Given the description of an element on the screen output the (x, y) to click on. 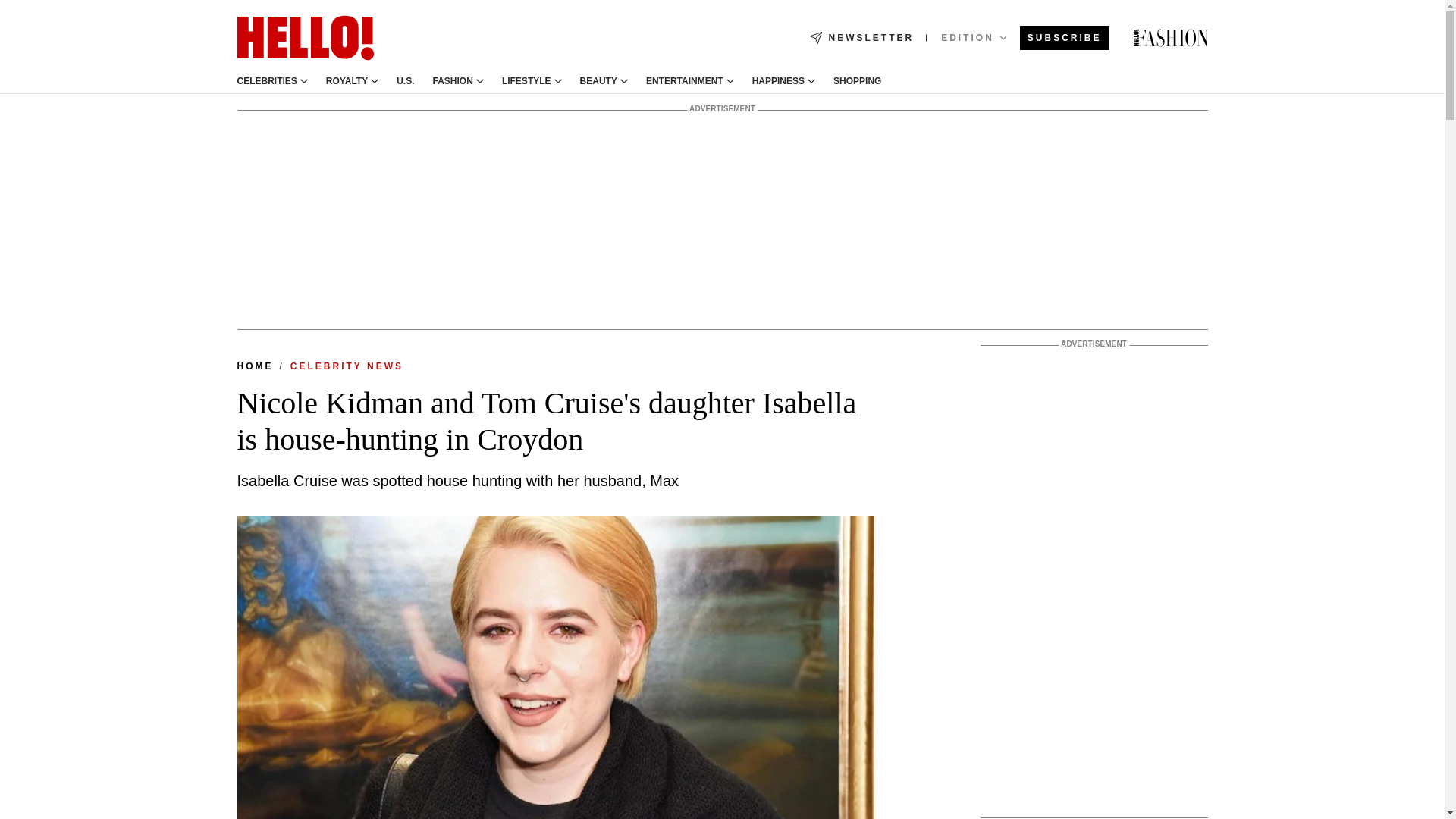
FASHION (452, 81)
ROYALTY (347, 81)
BEAUTY (598, 81)
U.S. (404, 81)
CELEBRITIES (266, 81)
NEWSLETTER (861, 38)
